Given the description of an element on the screen output the (x, y) to click on. 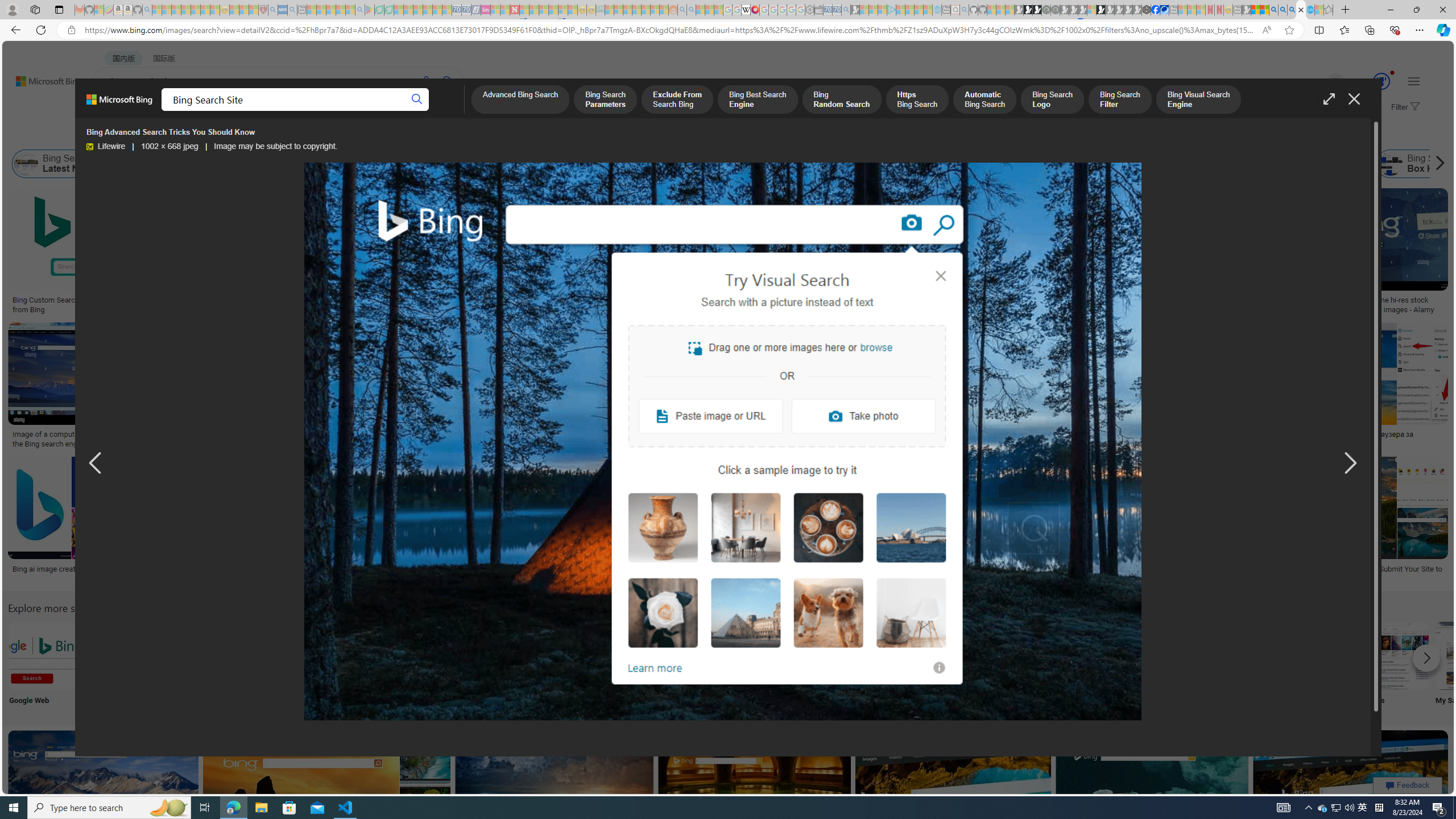
Scroll right (1436, 163)
Tips (718, 665)
Top 10 Search engine | REALITYPOD - Part 3Save (941, 387)
Bing Random Search Random (794, 665)
